Given the description of an element on the screen output the (x, y) to click on. 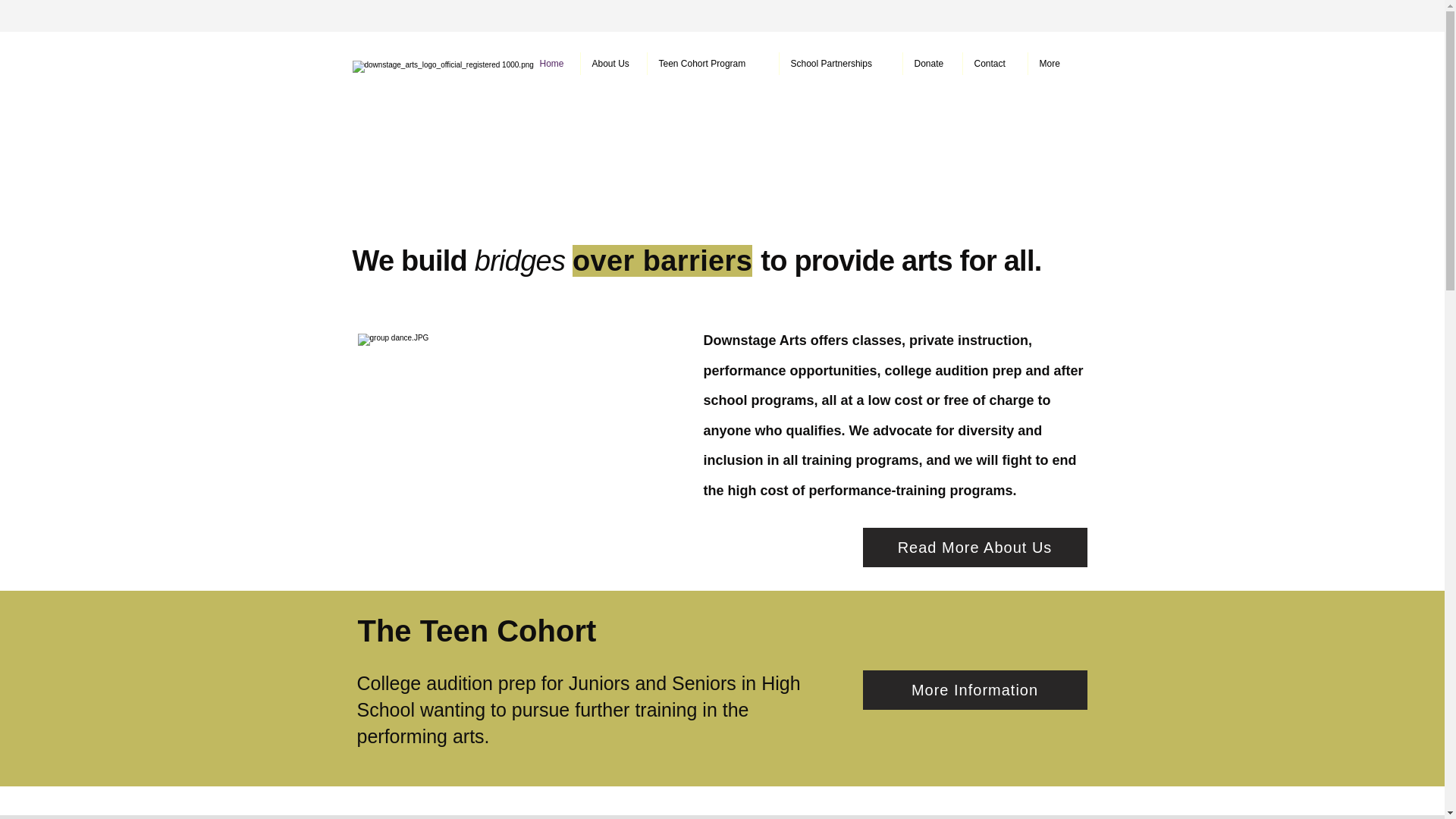
Contact (994, 63)
Donate (931, 63)
Teen Cohort Program (712, 63)
About Us (613, 63)
Home (553, 63)
Read More About Us (975, 547)
More Information (975, 690)
School Partnerships (840, 63)
